Given the description of an element on the screen output the (x, y) to click on. 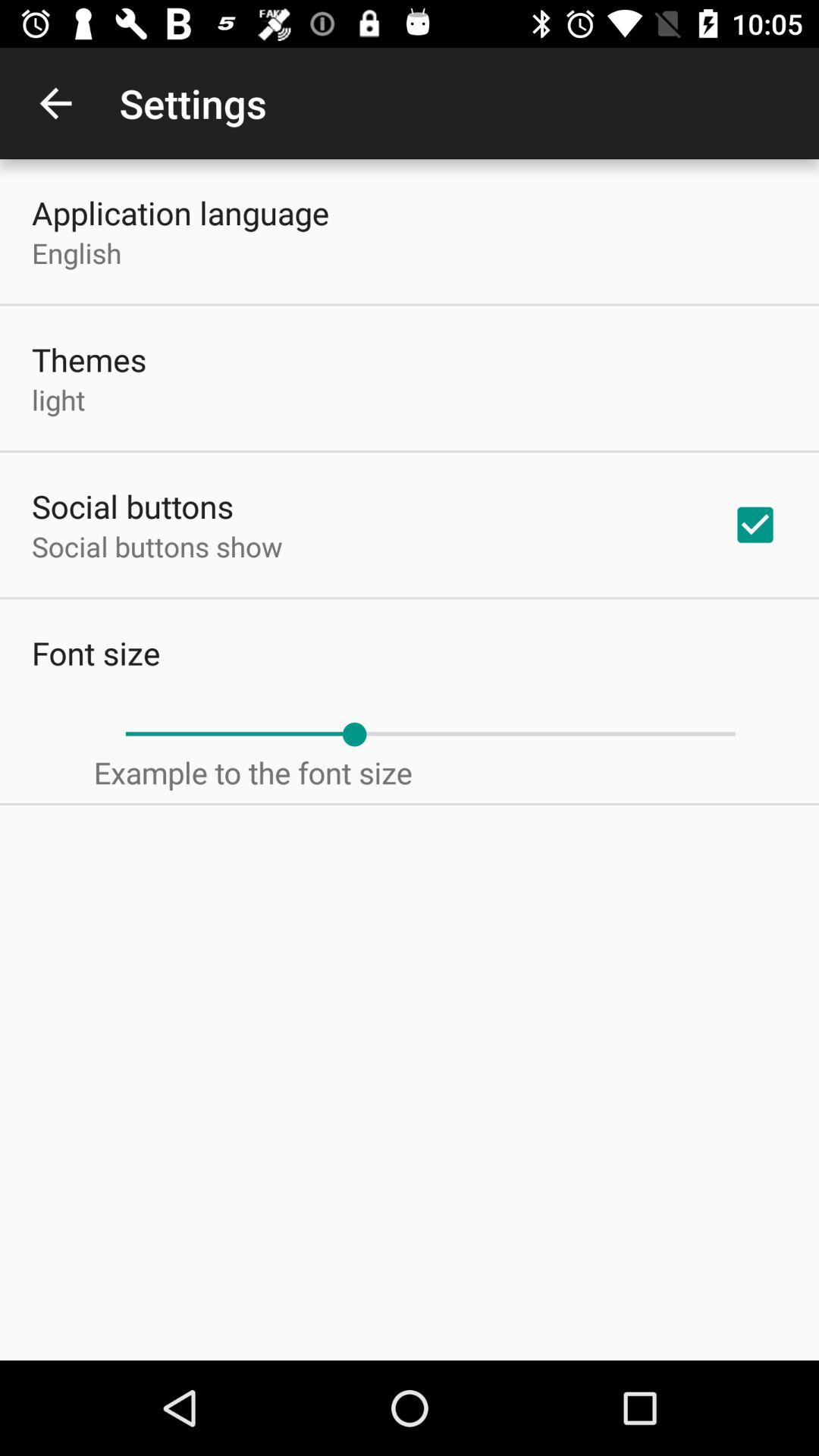
tap the icon above the themes icon (76, 252)
